Given the description of an element on the screen output the (x, y) to click on. 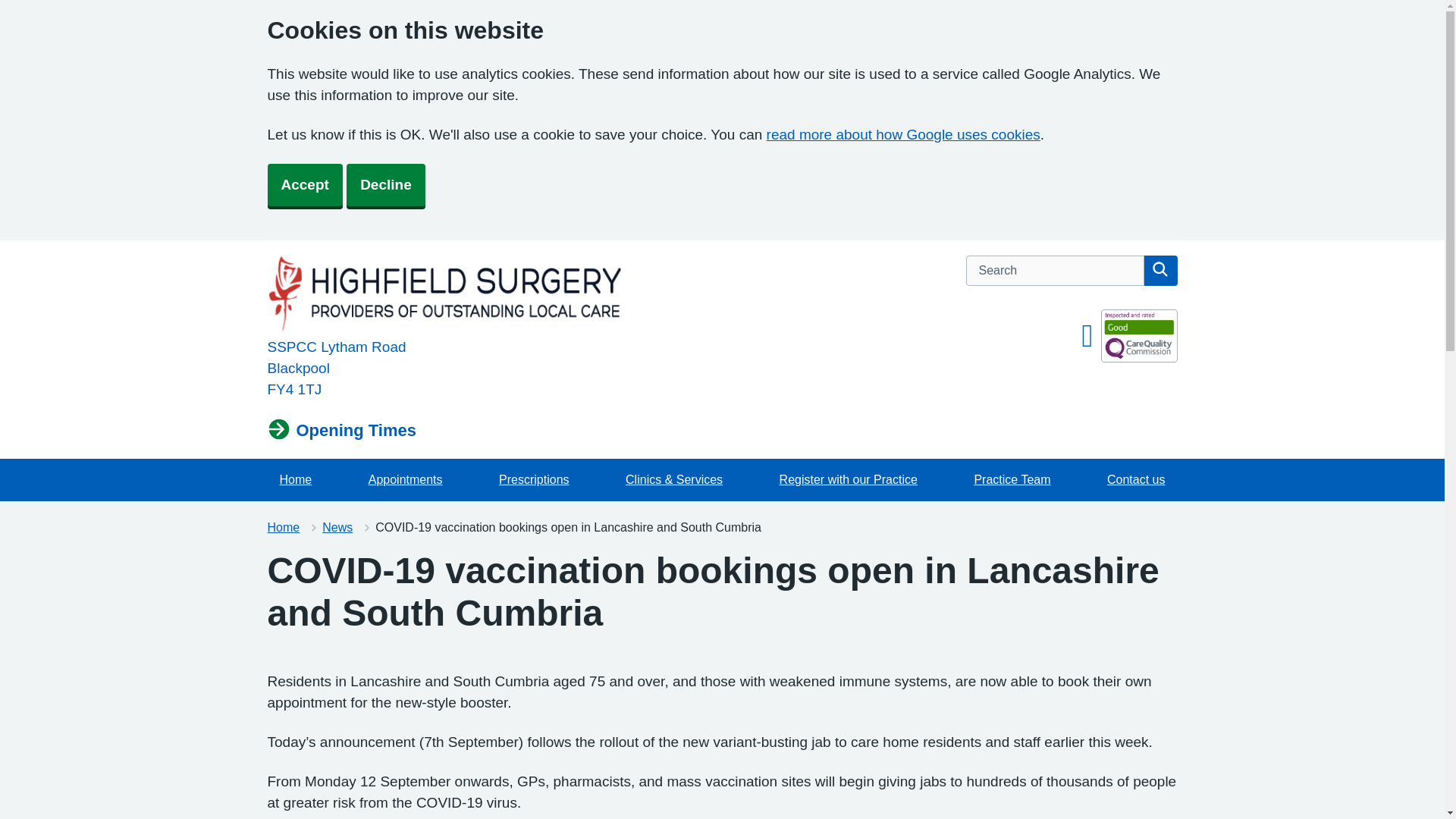
Search (1159, 270)
Home (282, 526)
News (336, 526)
Decline (385, 184)
Register with our Practice (848, 479)
Home (282, 526)
Prescriptions (533, 479)
read more about how Google uses cookies (904, 134)
Practice Team (1011, 479)
Appointments (405, 479)
Home (294, 479)
Opening Times (341, 430)
Contact us (1135, 479)
Accept (304, 184)
